Given the description of an element on the screen output the (x, y) to click on. 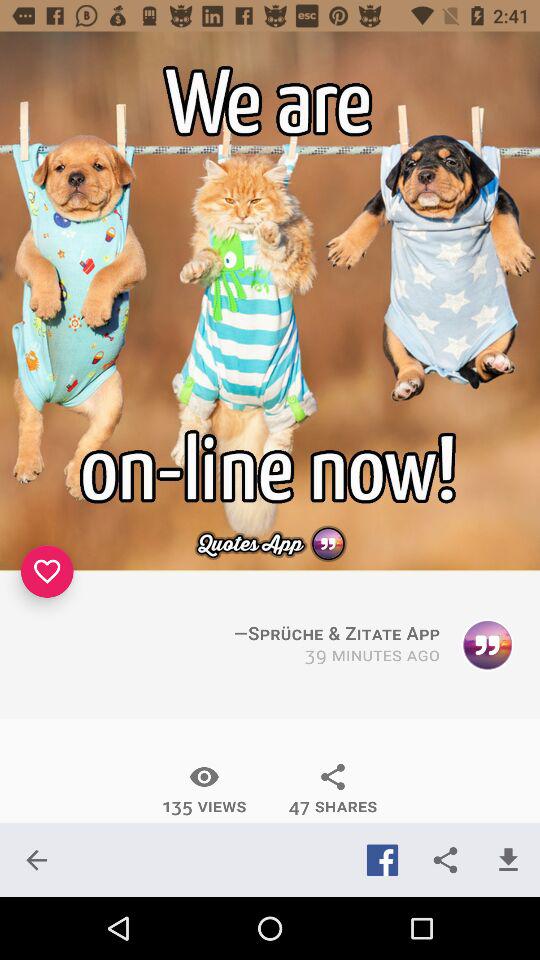
tap anywhere to open the quotes app (270, 301)
